Given the description of an element on the screen output the (x, y) to click on. 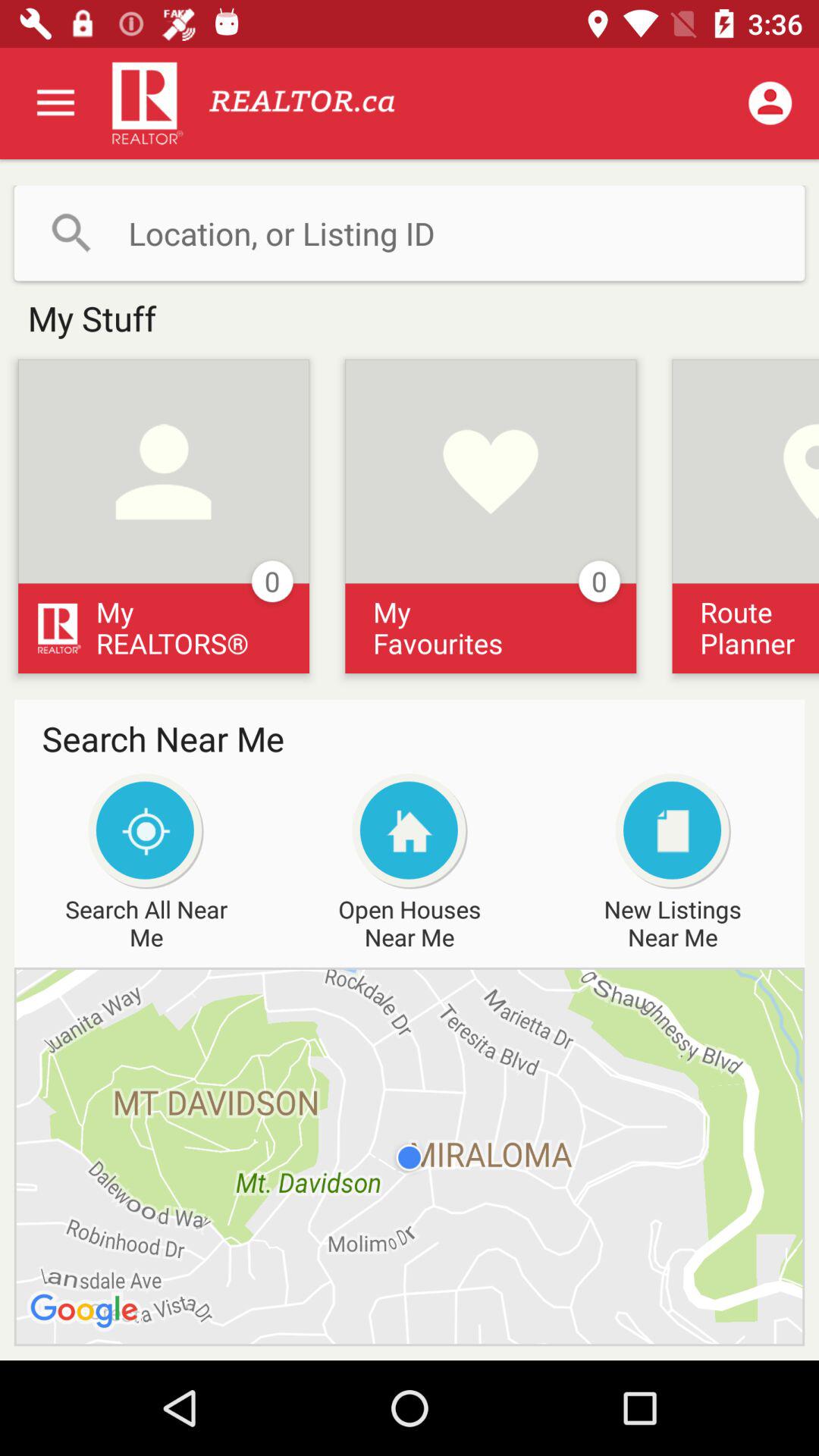
select the item above my stuff item (409, 232)
